Given the description of an element on the screen output the (x, y) to click on. 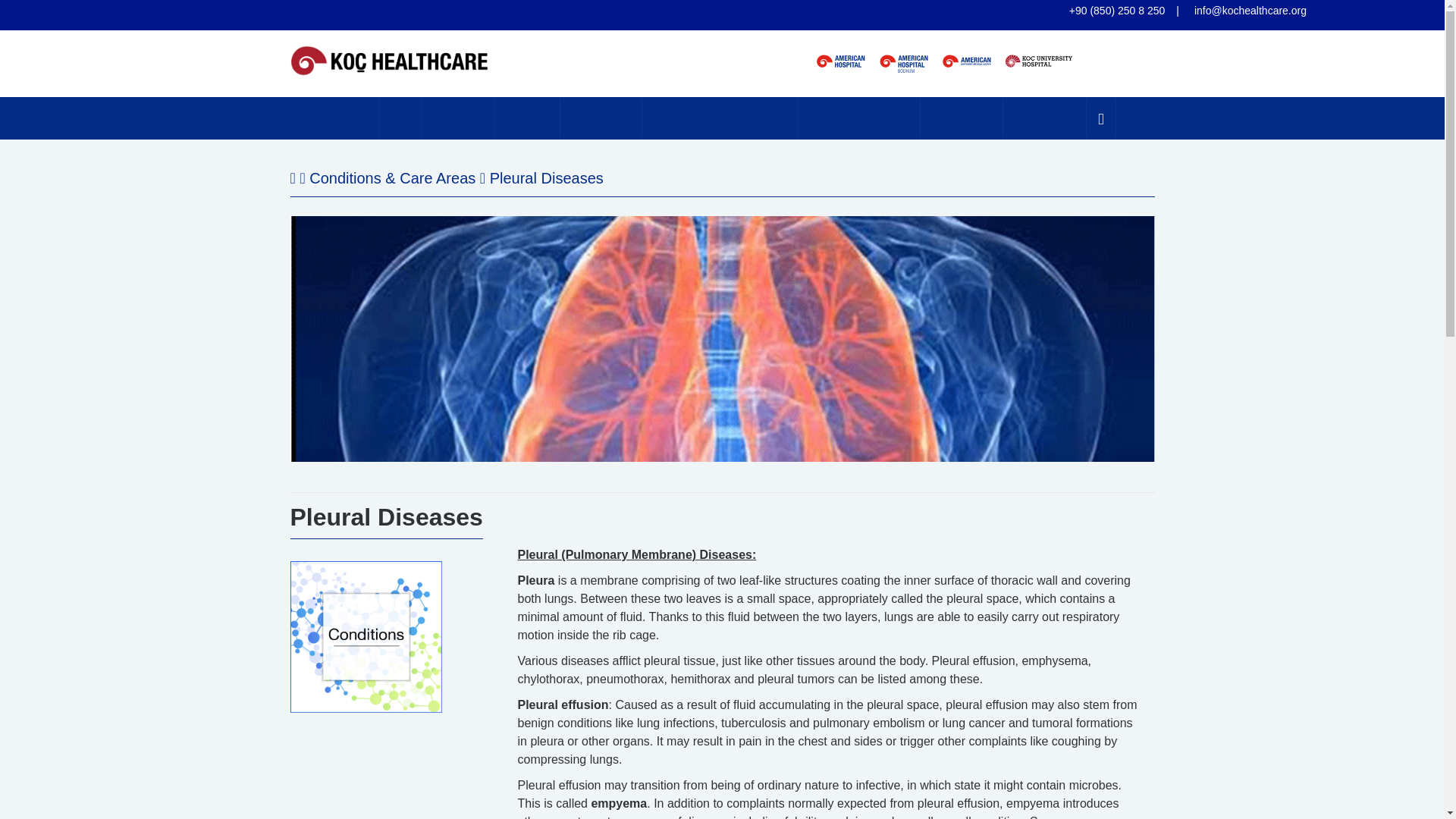
Academics (961, 118)
Academics (961, 118)
Update Test (334, 118)
About Us (458, 118)
test (400, 118)
Contact Us (1044, 118)
About Us (458, 118)
test (400, 118)
Institutions (601, 118)
Doctors (527, 118)
Doctors (527, 118)
Institutions (601, 118)
Contact Us (1044, 118)
Update Test (334, 118)
